Given the description of an element on the screen output the (x, y) to click on. 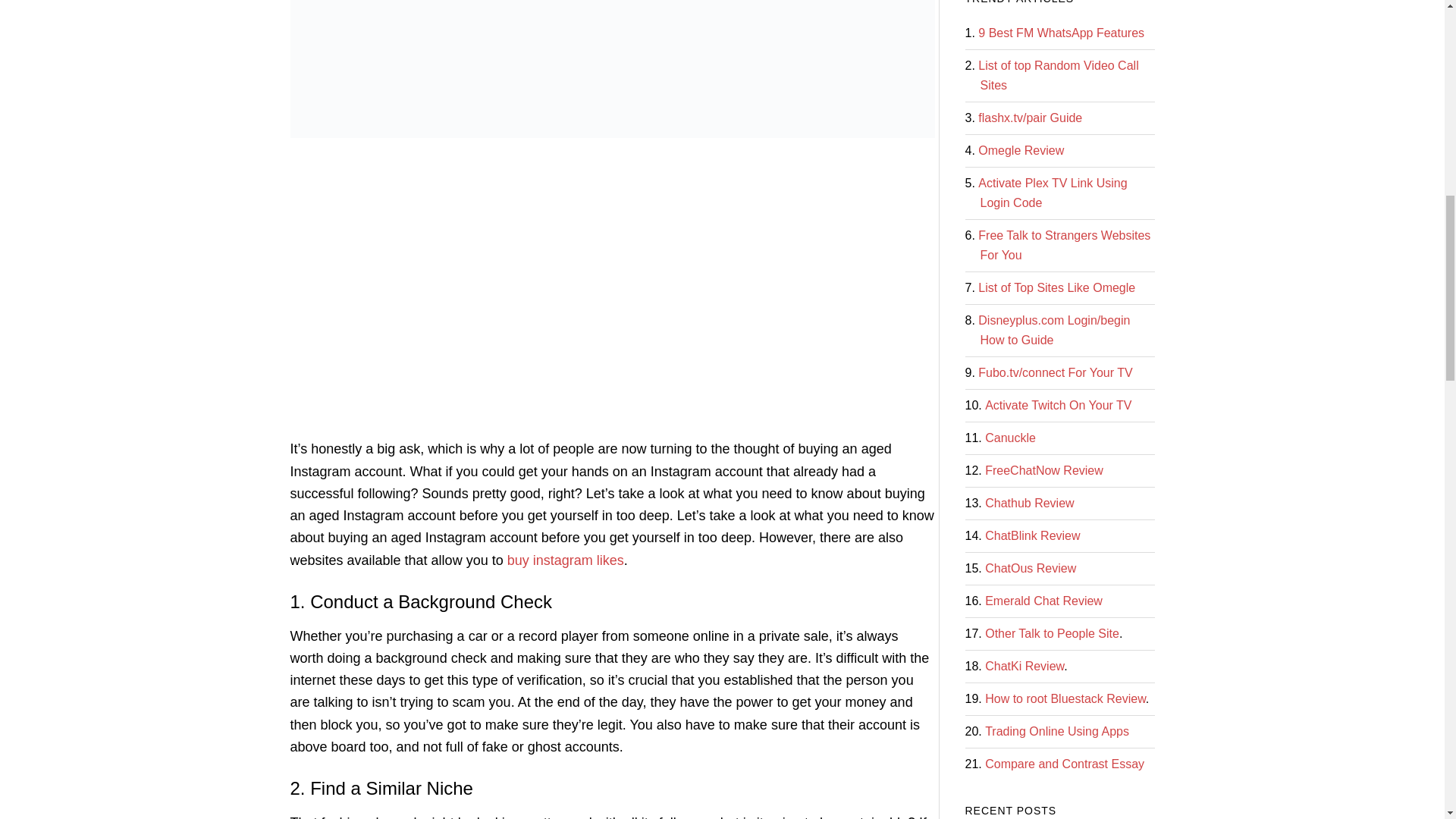
buy instagram likes (565, 560)
9 Best FM WhatsApp Features (1061, 32)
List of top Random Video Call Sites (1058, 74)
